Given the description of an element on the screen output the (x, y) to click on. 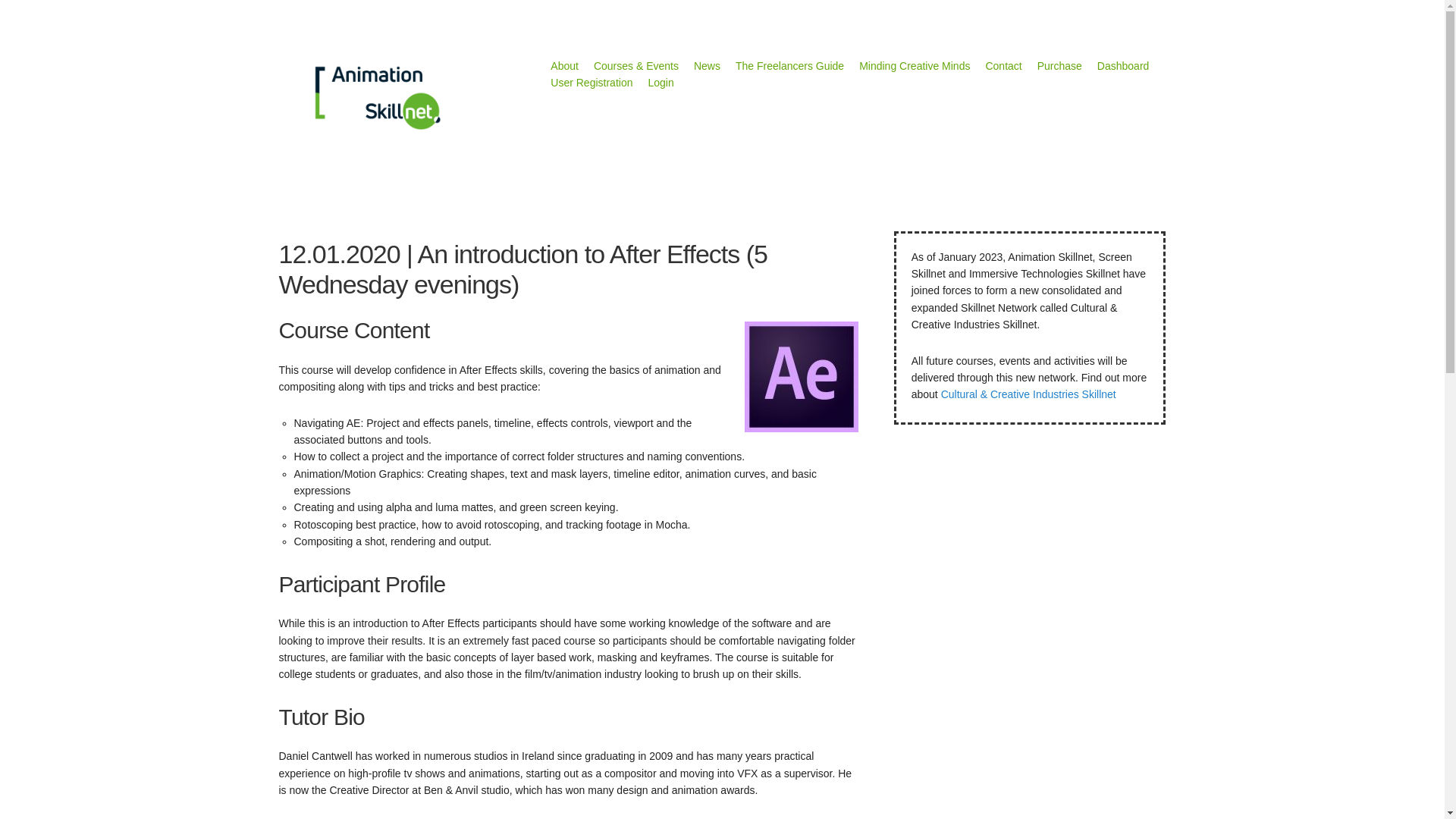
News (707, 65)
User Registration (590, 82)
Animation Skillnet (377, 97)
Purchase (1058, 65)
The Freelancers Guide (789, 65)
Login (659, 82)
About (564, 65)
Contact (1003, 65)
Dashboard (1123, 65)
Minding Creative Minds (914, 65)
